Given the description of an element on the screen output the (x, y) to click on. 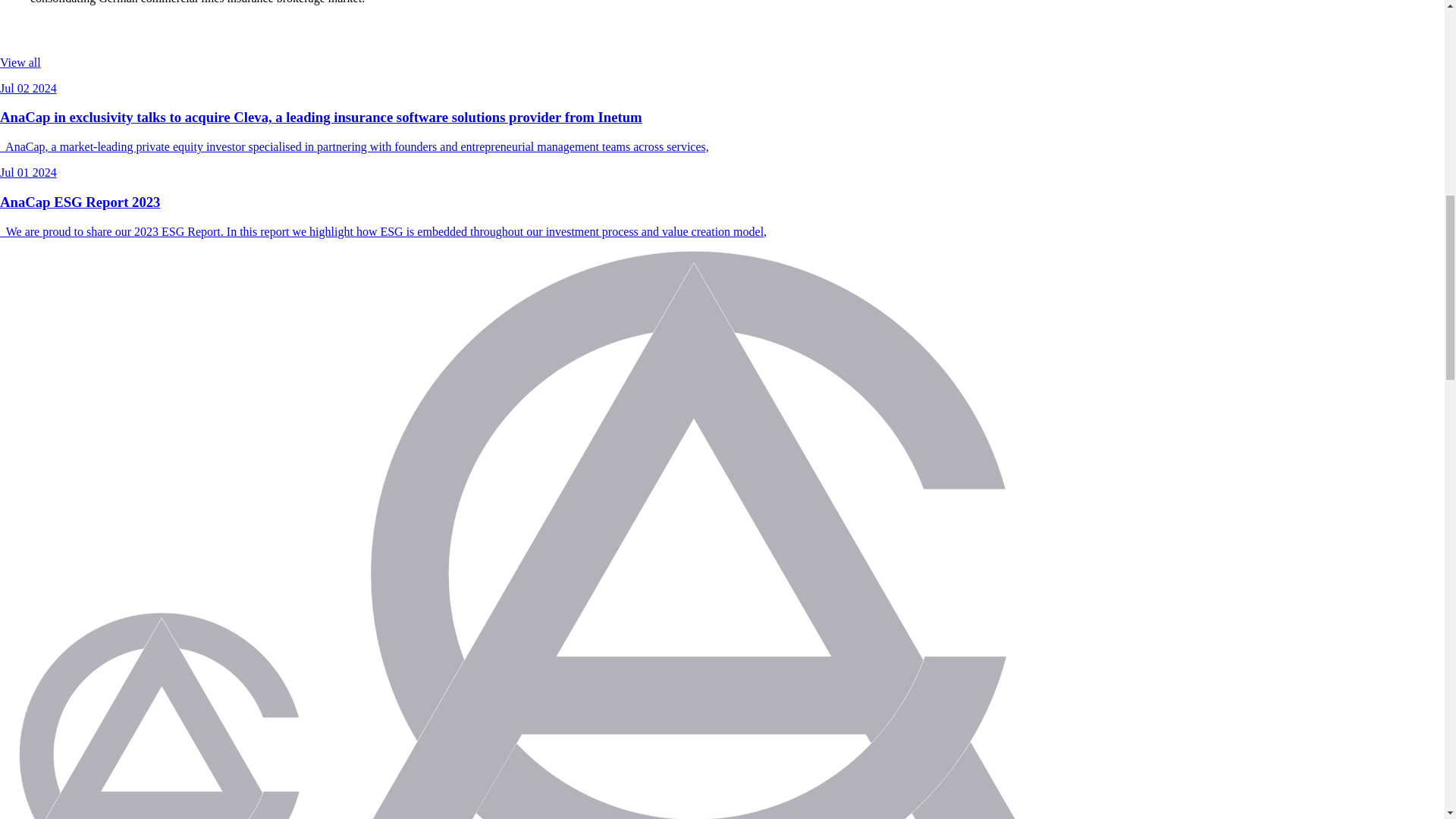
View all latest news (20, 62)
View all (20, 62)
